Given the description of an element on the screen output the (x, y) to click on. 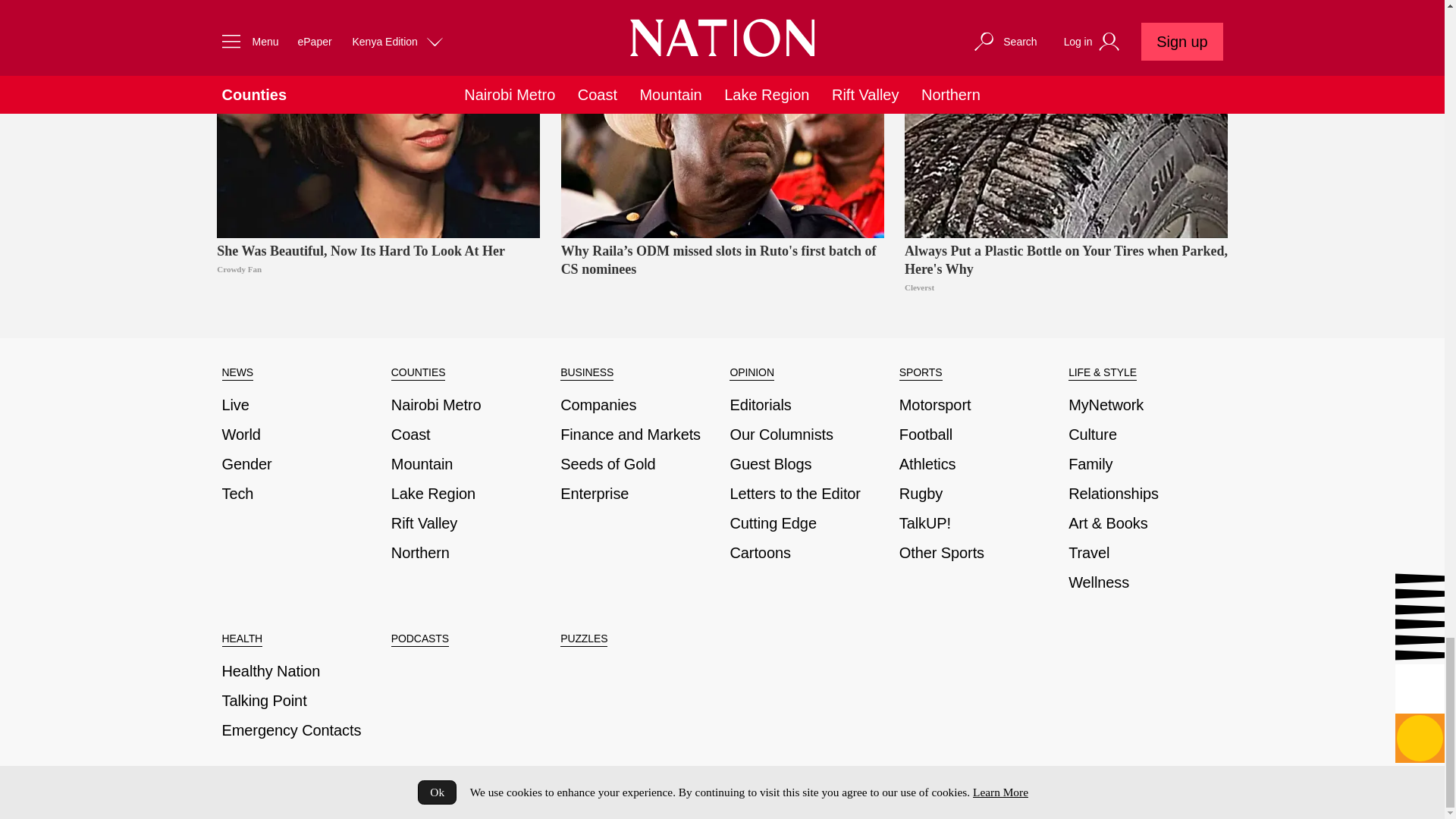
She Was Beautiful, Now Its Hard To Look At Her (378, 119)
